Given the description of an element on the screen output the (x, y) to click on. 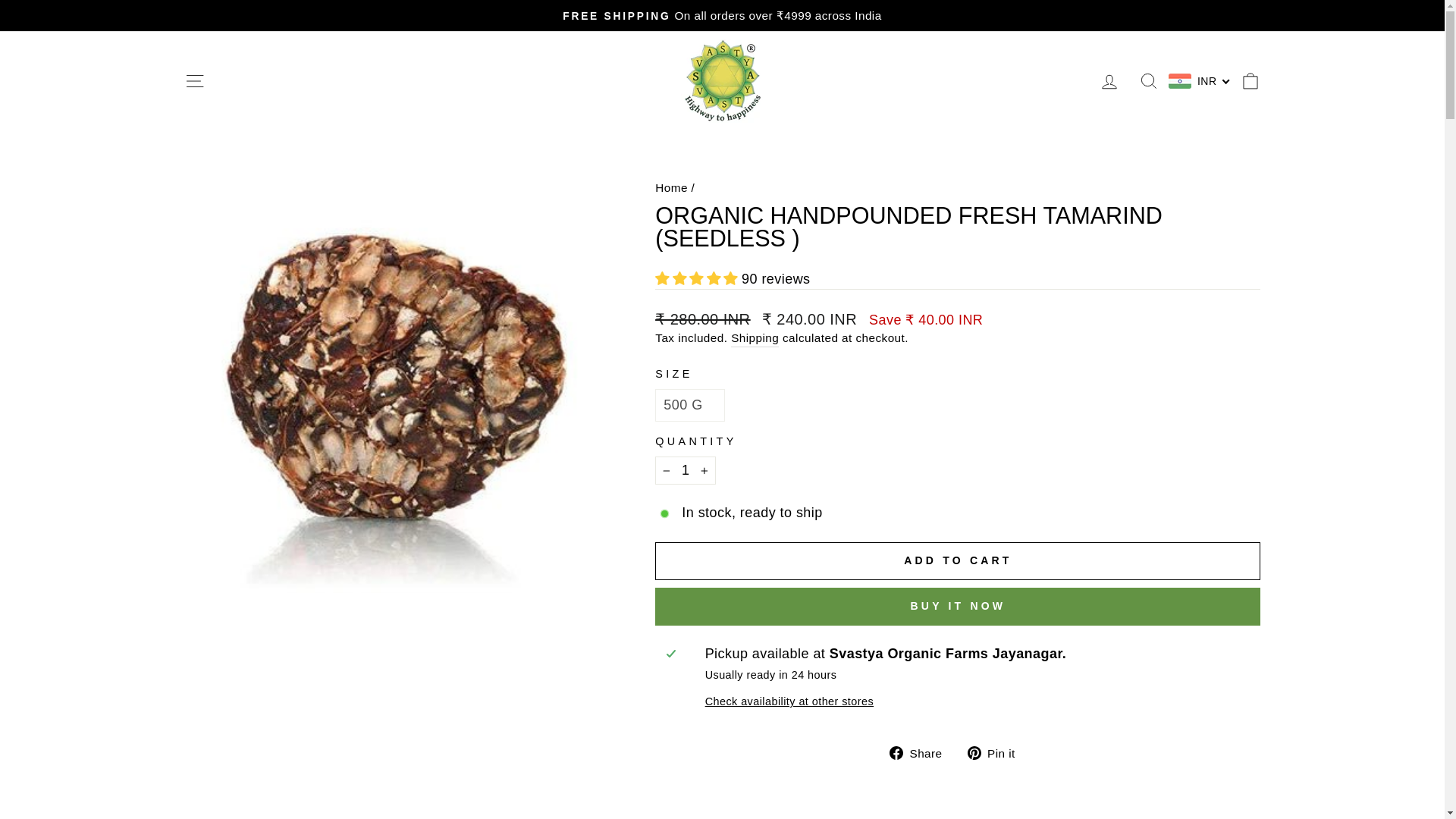
ICON-SEARCH (1148, 80)
Back to the frontpage (671, 187)
Pin on Pinterest (997, 752)
ACCOUNT (1109, 81)
ICON-BAG-MINIMAL (1249, 80)
ICON-HAMBURGER (194, 80)
Share on Facebook (921, 752)
1 (685, 470)
